Given the description of an element on the screen output the (x, y) to click on. 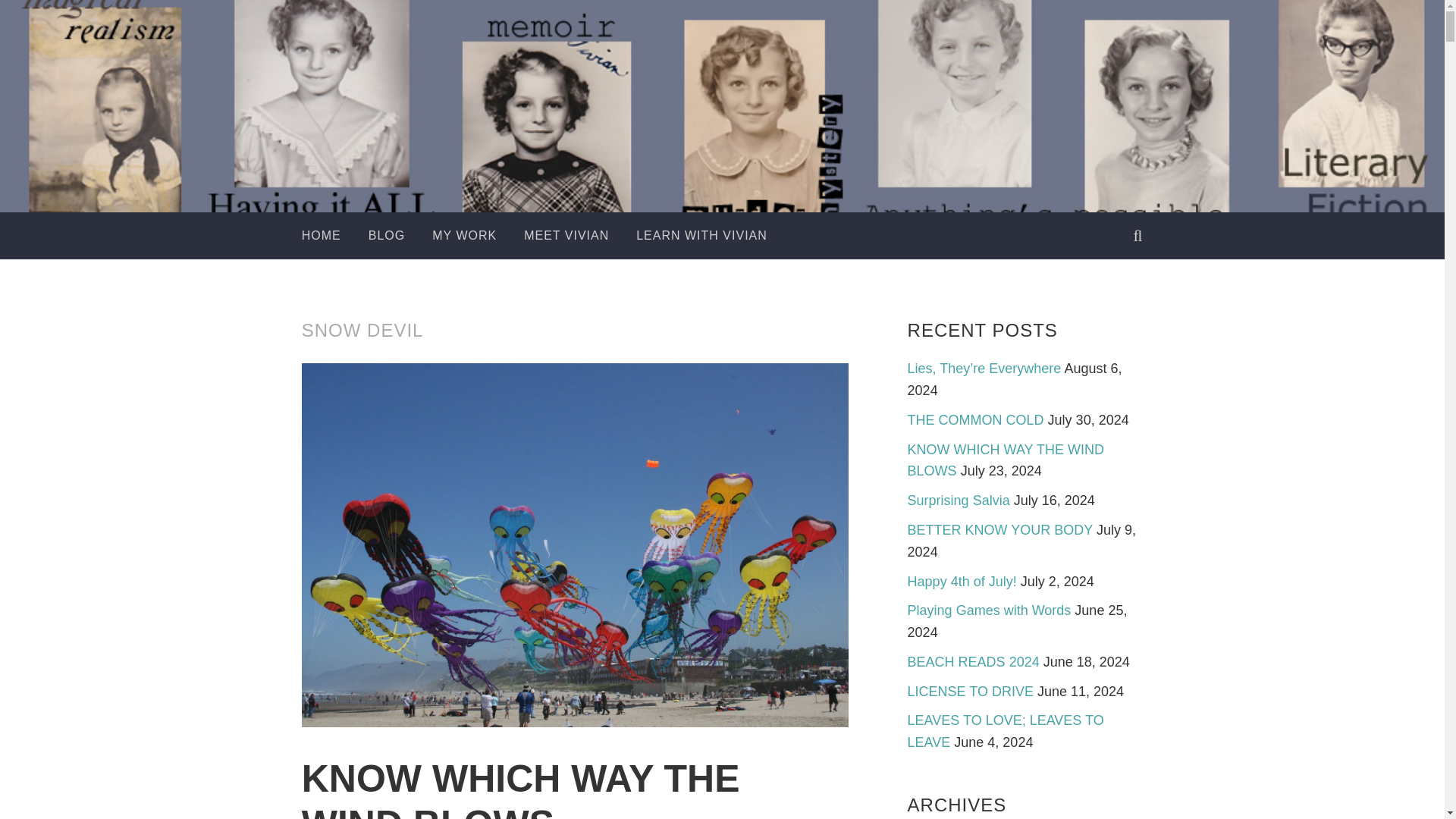
Vivian Lawry (783, 159)
MEET VIVIAN (566, 235)
LEARN WITH VIVIAN (701, 235)
MY WORK (464, 235)
KNOW WHICH WAY THE WIND BLOWS (520, 788)
